Given the description of an element on the screen output the (x, y) to click on. 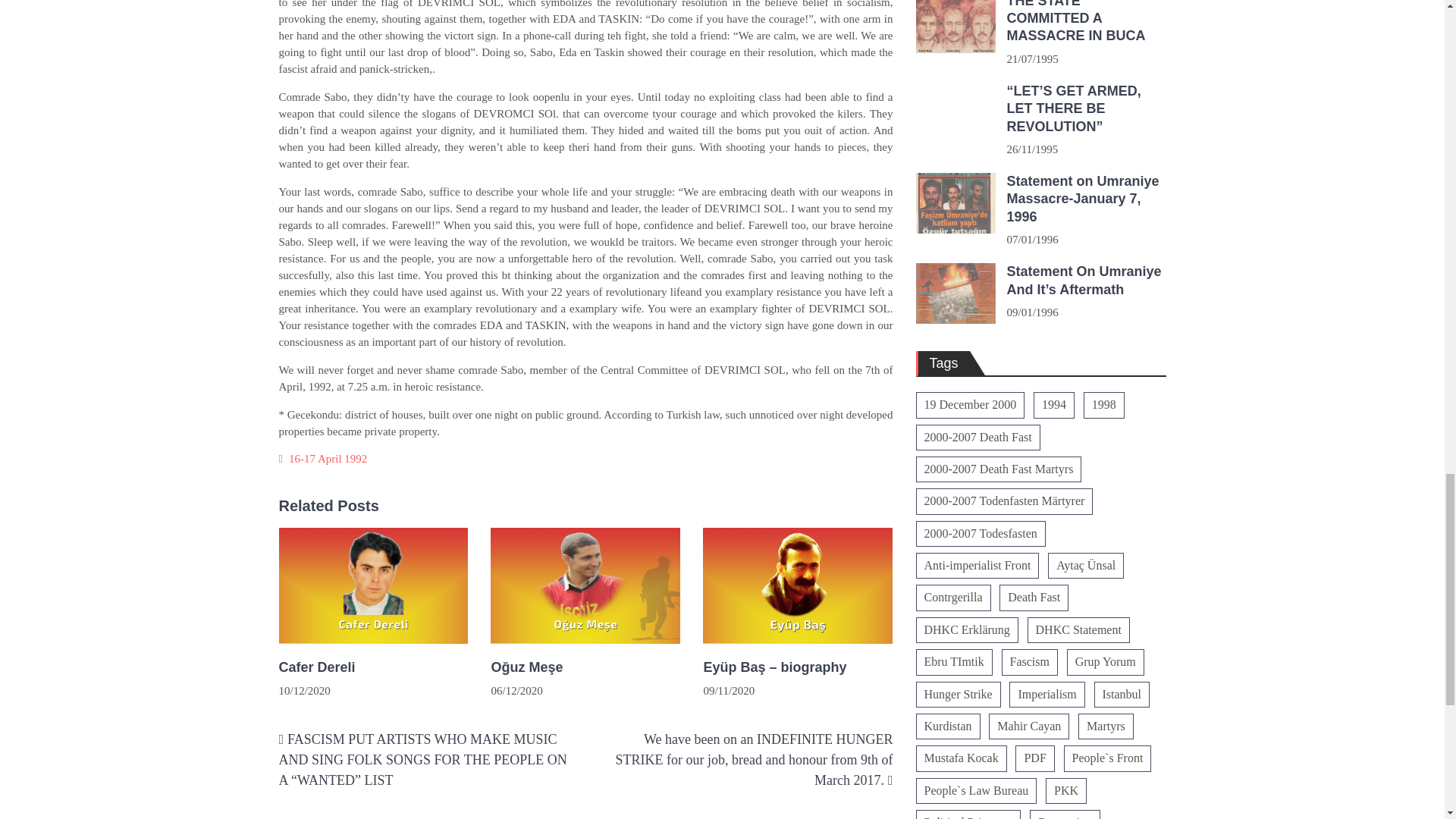
16-17 April 1992 (327, 458)
Cafer Dereli (373, 667)
